Given the description of an element on the screen output the (x, y) to click on. 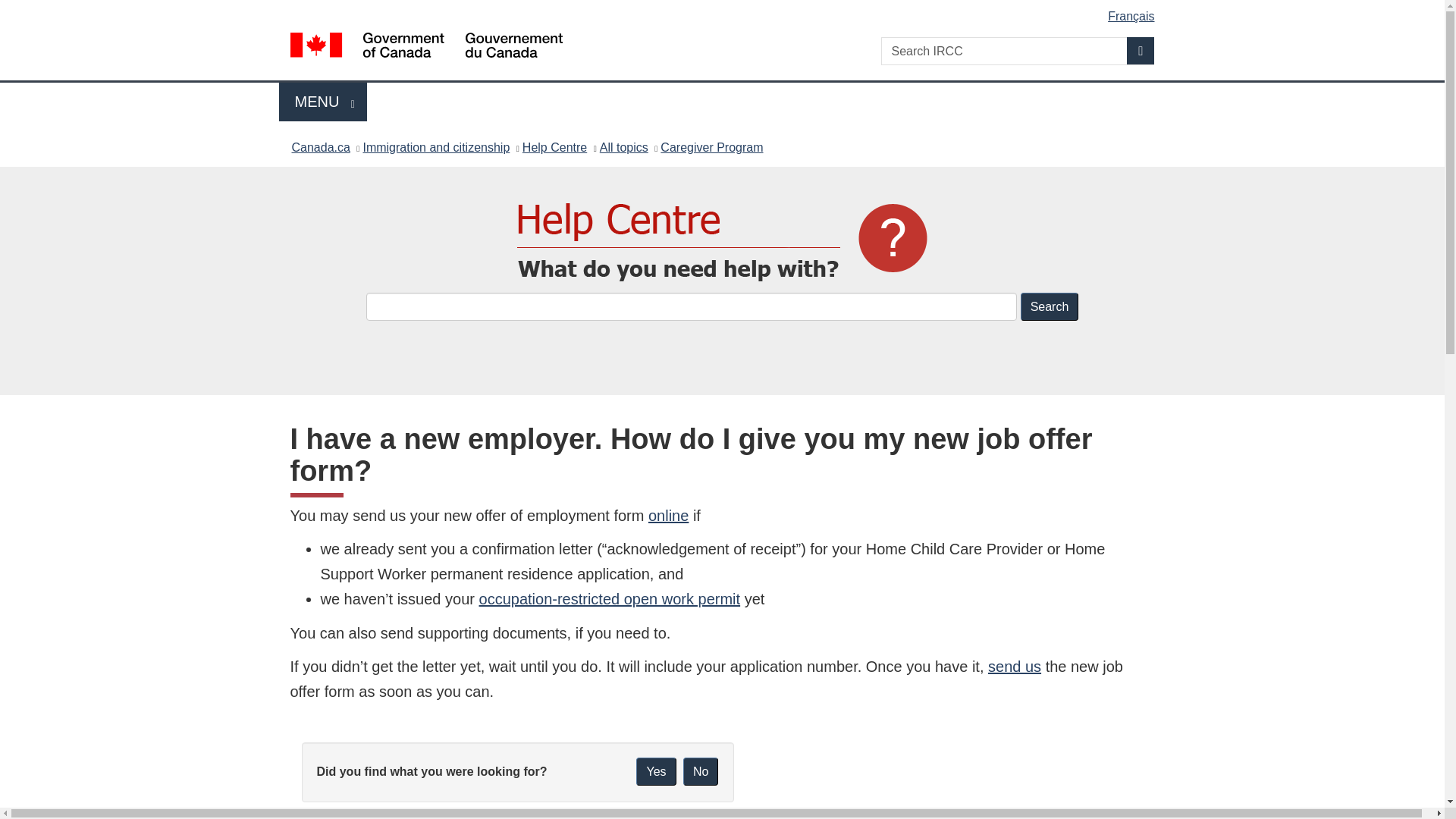
Help Centre (554, 147)
online (667, 515)
Immigration and citizenship (435, 147)
All topics (623, 147)
No (699, 771)
Canada.ca (320, 147)
Search (1049, 306)
Caregiver Program (711, 147)
Search (322, 101)
Yes (1049, 306)
Skip to main content (655, 771)
occupation-restricted open work permit (725, 11)
send us (610, 598)
Search (1014, 666)
